Given the description of an element on the screen output the (x, y) to click on. 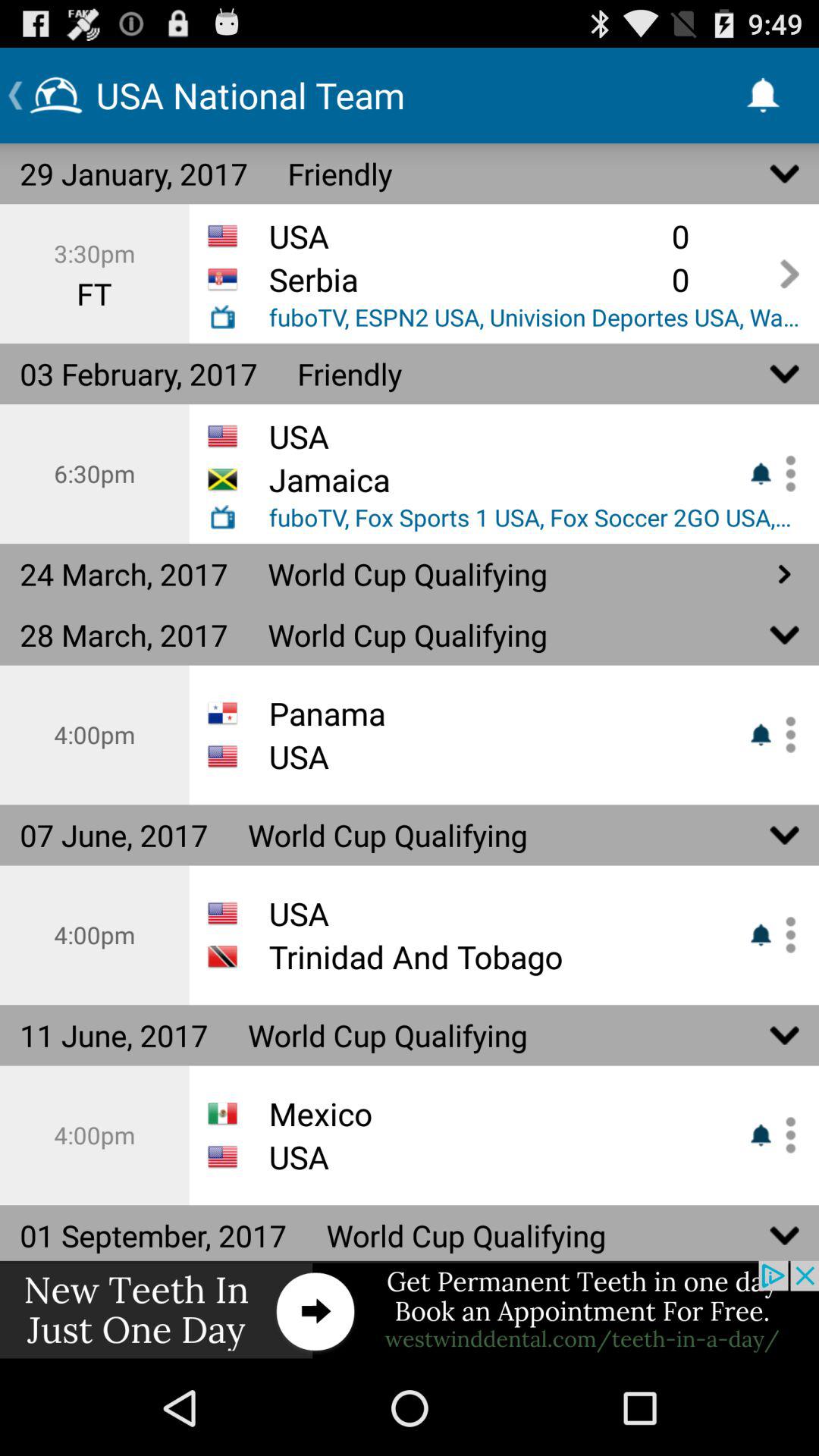
shows other option (409, 1310)
